Given the description of an element on the screen output the (x, y) to click on. 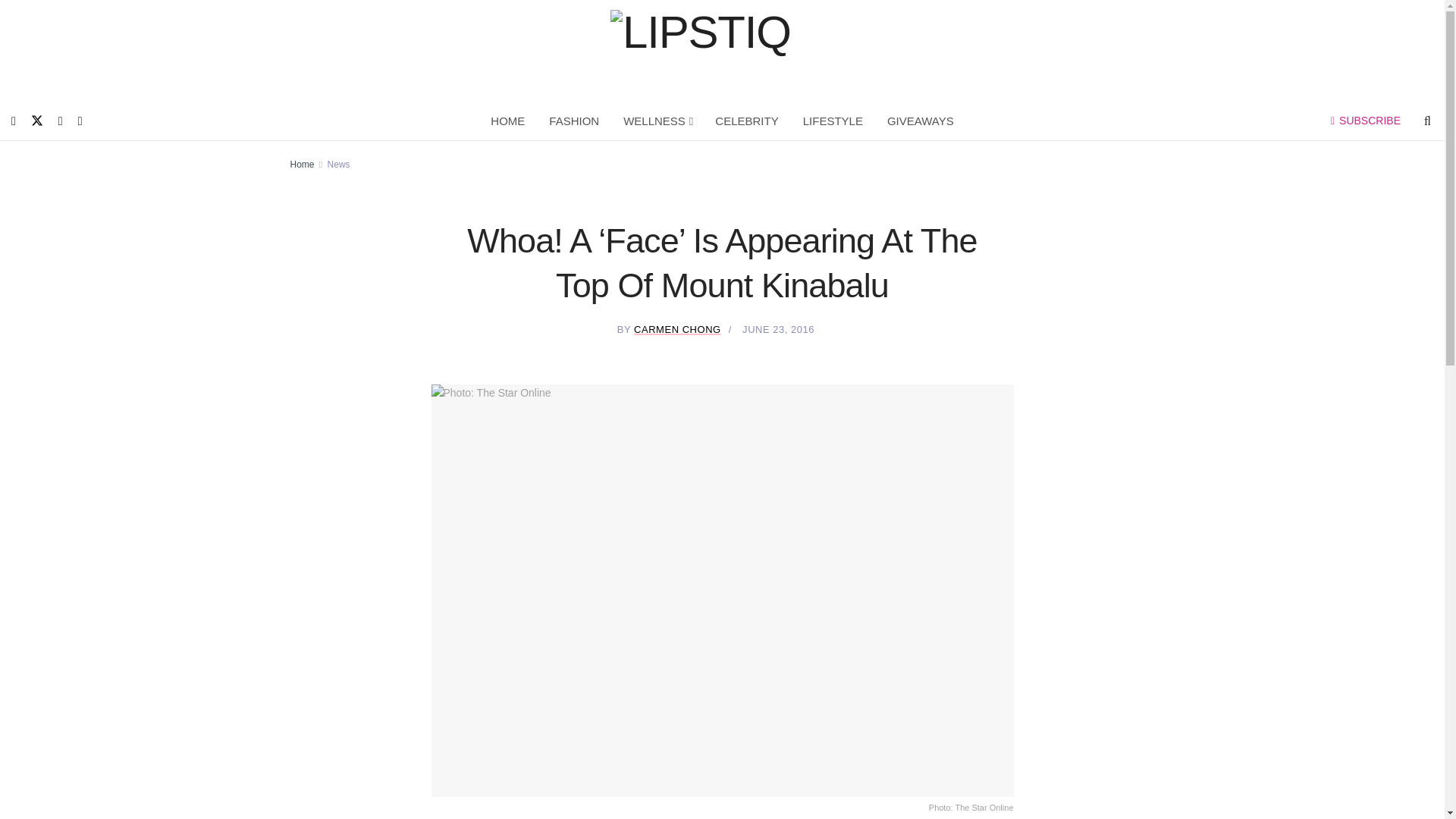
WELLNESS (657, 121)
Home (301, 163)
JUNE 23, 2016 (777, 328)
CELEBRITY (746, 121)
LIFESTYLE (832, 121)
News (338, 163)
CARMEN CHONG (676, 328)
FASHION (574, 121)
HOME (508, 121)
GIVEAWAYS (920, 121)
